Given the description of an element on the screen output the (x, y) to click on. 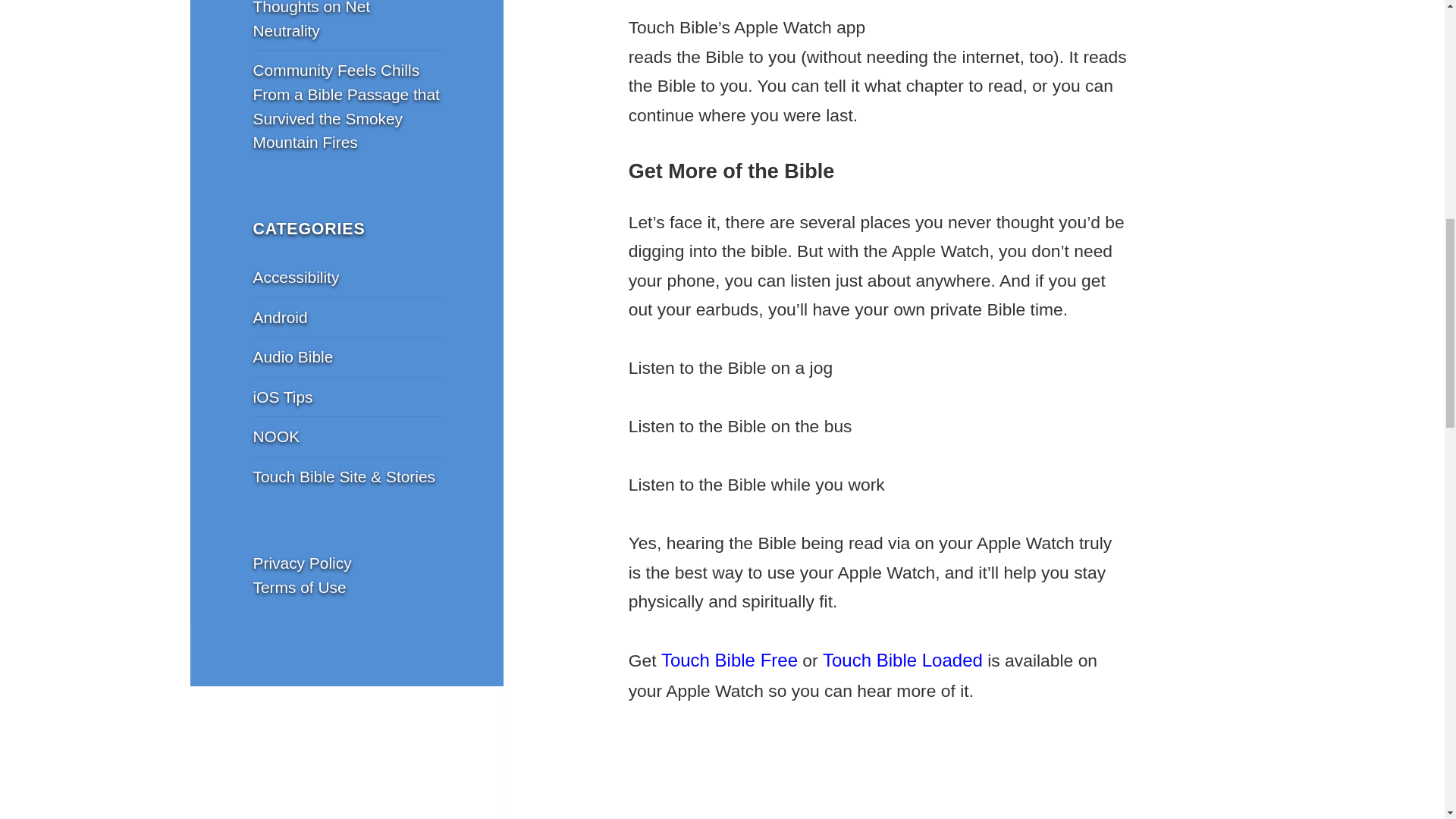
Touch Bible Loaded (902, 660)
Thoughts on Net Neutrality (312, 19)
NOOK (276, 436)
Accessibility (296, 276)
Audio Bible (293, 356)
Touch Bible Free (729, 660)
Terms of Use (299, 587)
iOS Tips (283, 396)
Privacy Policy (302, 562)
Android (280, 316)
